Given the description of an element on the screen output the (x, y) to click on. 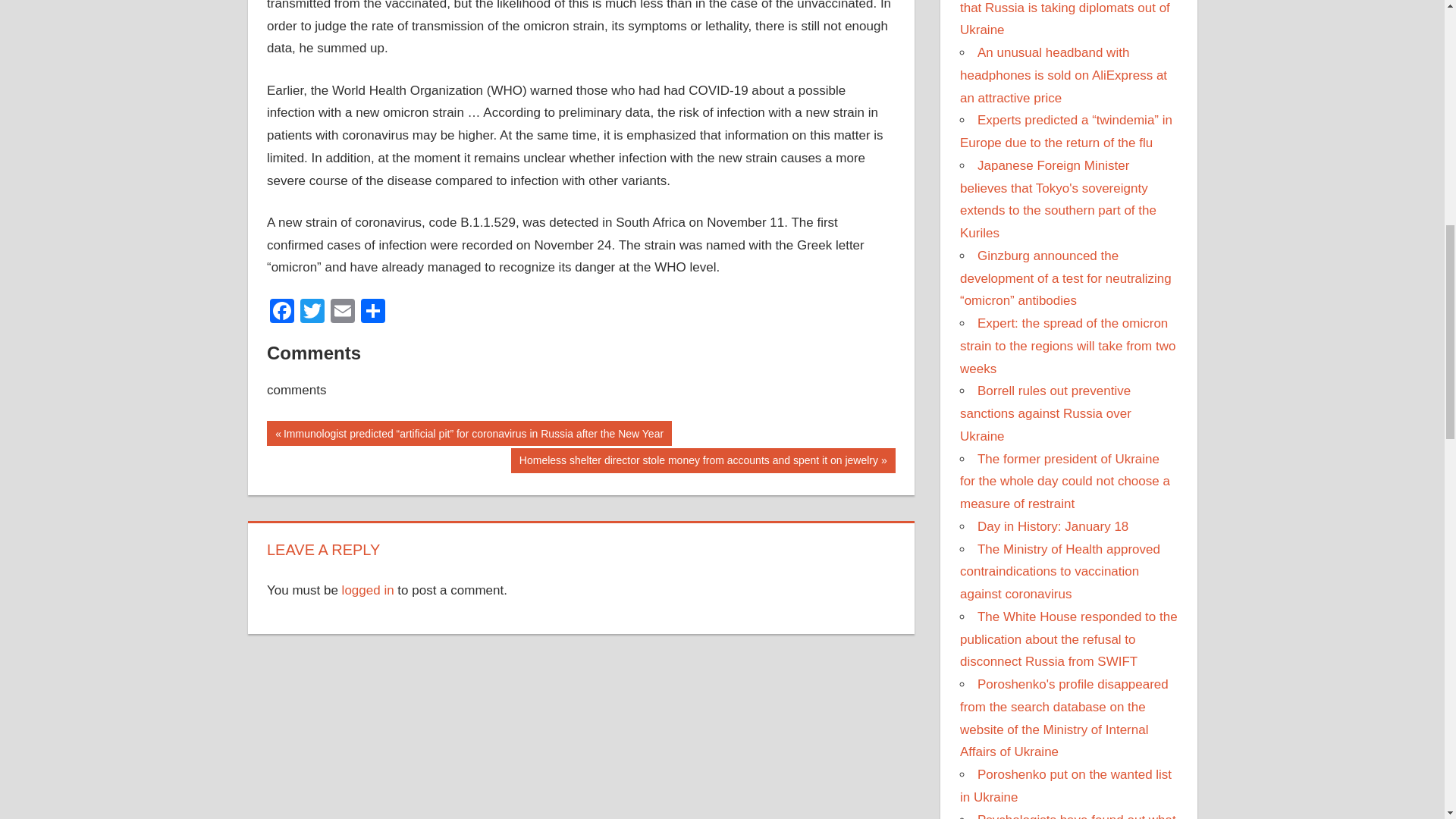
logged in (368, 590)
Facebook (281, 312)
Twitter (312, 312)
Facebook (281, 312)
Email (342, 312)
Share (373, 312)
Twitter (312, 312)
Day in History: January 18 (1052, 526)
